Given the description of an element on the screen output the (x, y) to click on. 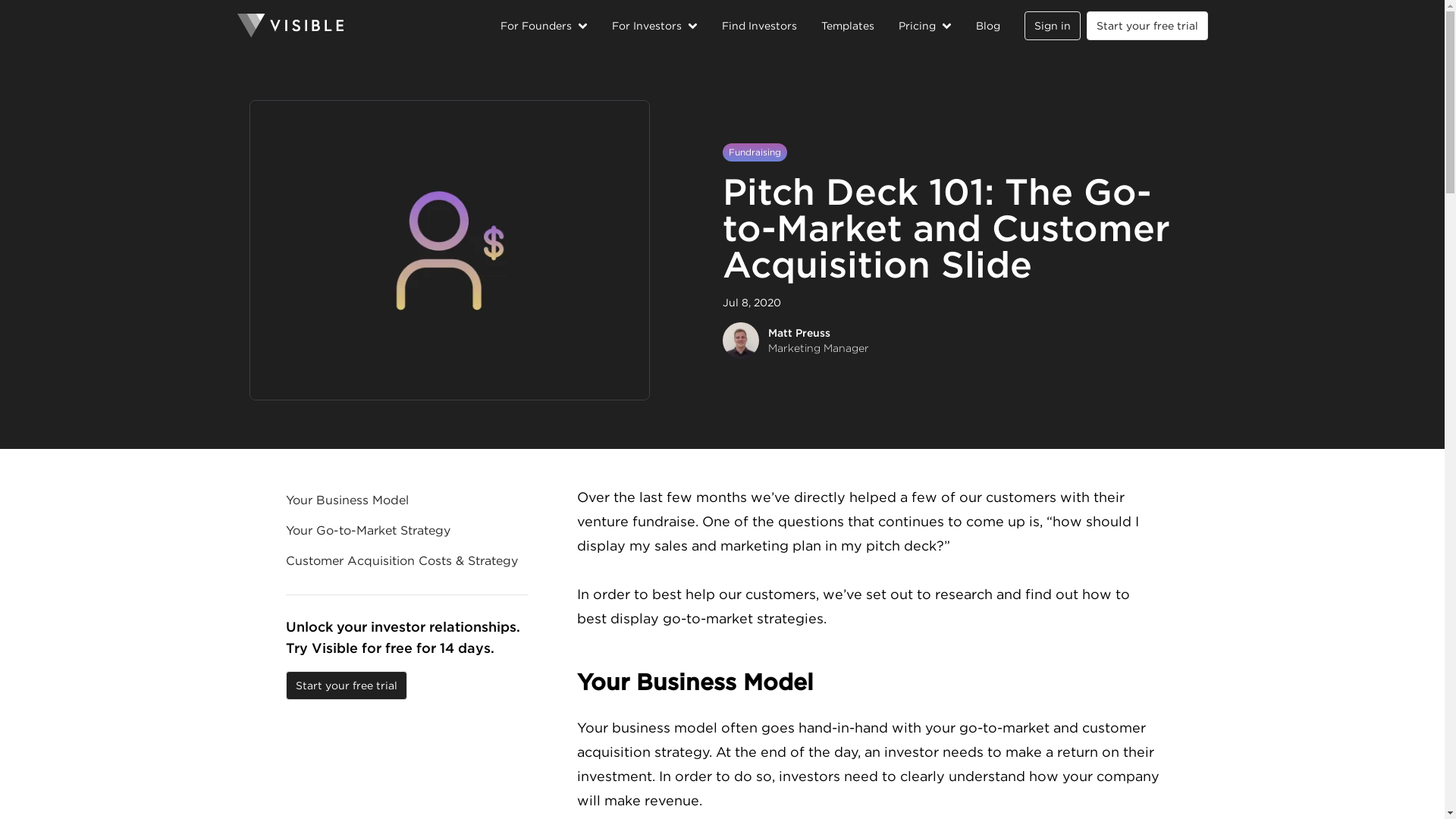
Your Go-to-Market Strategy (406, 530)
Pricing (924, 25)
Sign in (1051, 25)
Find Investors (759, 25)
Templates (847, 25)
Start your free trial (1146, 25)
For Investors (654, 25)
For Founders (544, 25)
Blog (986, 25)
Your Business Model (867, 682)
Start your free trial (345, 685)
Fundraising (754, 151)
Your Business Model (406, 500)
